Given the description of an element on the screen output the (x, y) to click on. 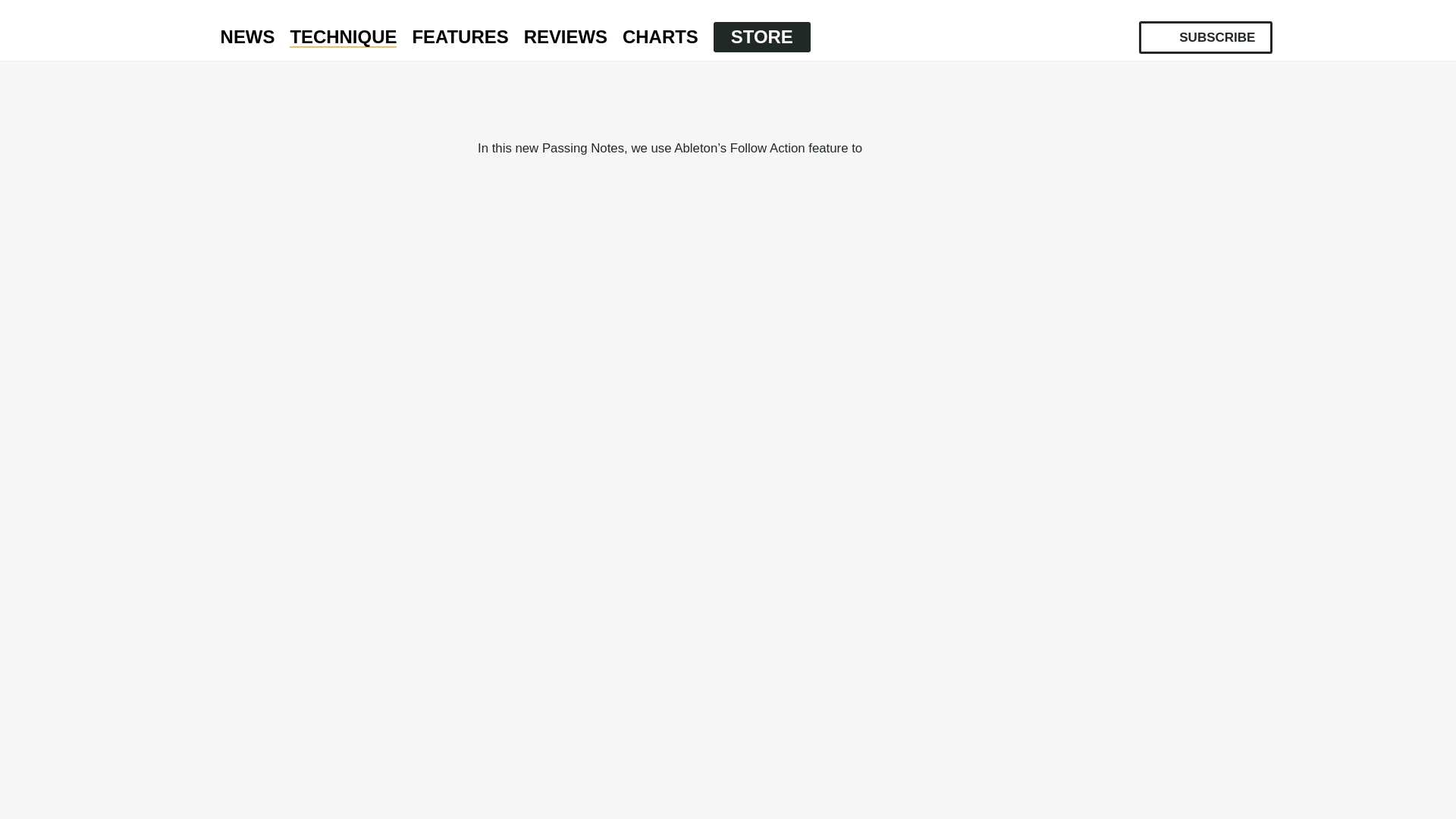
Attack Magazine (172, 30)
FEATURES (460, 37)
REVIEWS (565, 37)
NEWS (248, 37)
Attack Magazine (172, 30)
TECHNIQUE (342, 37)
